Given the description of an element on the screen output the (x, y) to click on. 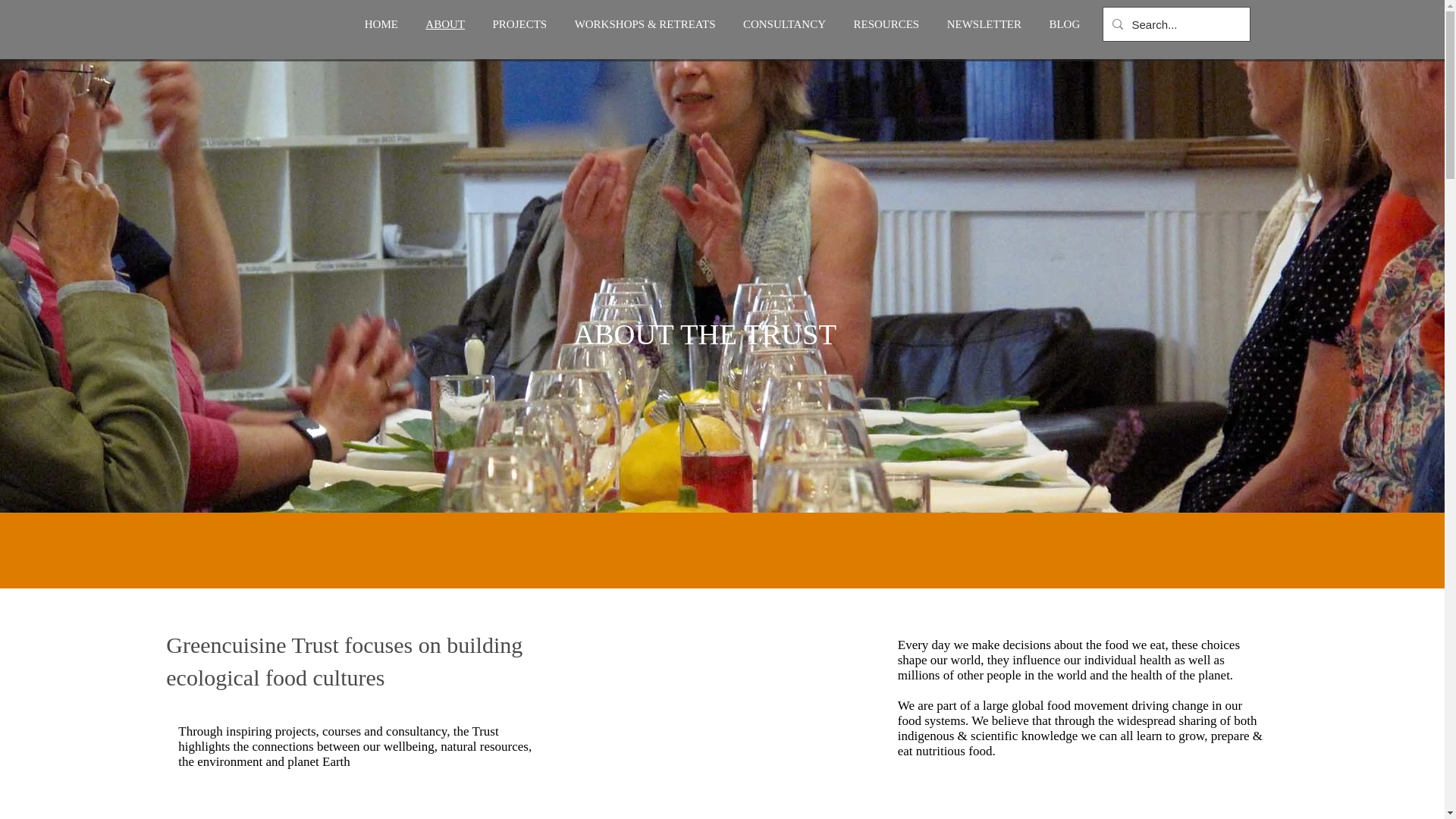
CONSULTANCY (784, 24)
ABOUT (445, 24)
HOME (381, 24)
PROJECTS (519, 24)
RESOURCES (886, 24)
NEWSLETTER (984, 24)
BLOG (1064, 24)
